Given the description of an element on the screen output the (x, y) to click on. 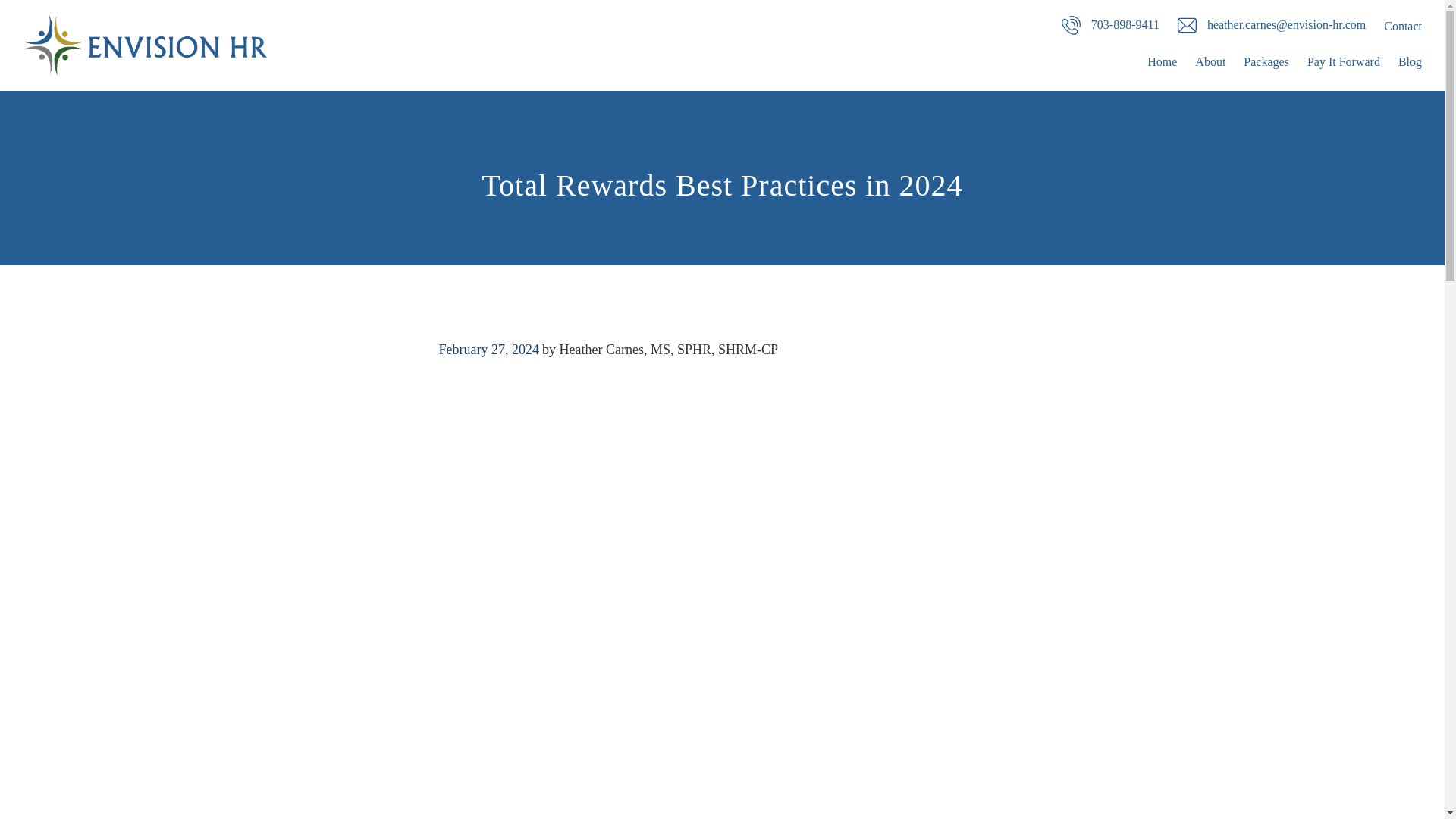
703-898-9411 (1109, 24)
Pay It Forward (1343, 61)
About (1210, 61)
Packages (1265, 61)
Contact (1403, 25)
Blog (1409, 61)
Home (1161, 61)
